Given the description of an element on the screen output the (x, y) to click on. 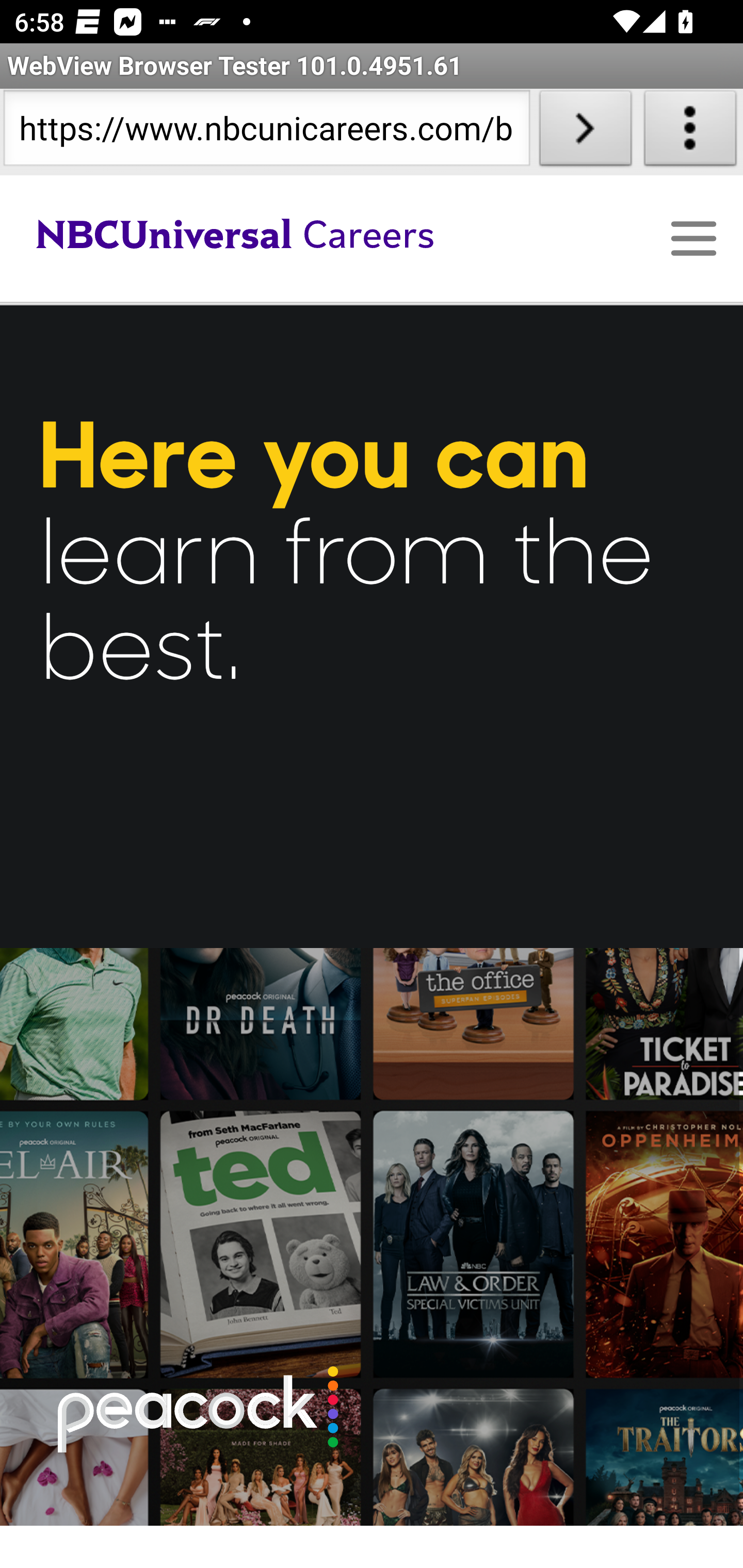
https://www.nbcunicareers.com/business/peacock (266, 132)
Load URL (585, 132)
About WebView (690, 132)
NBCUniversal Careers Home (322, 237)
Toggle navigation (692, 237)
